Given the description of an element on the screen output the (x, y) to click on. 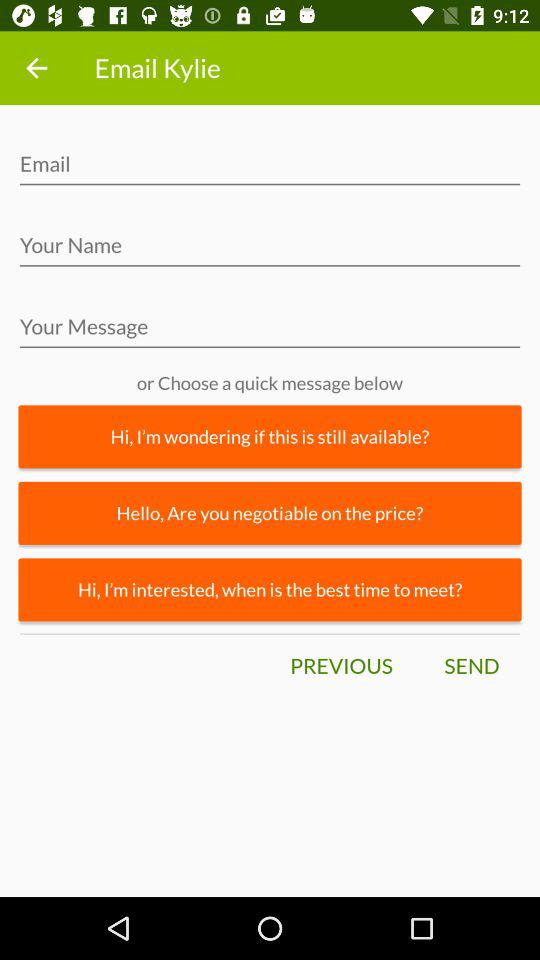
turn on the item at the bottom right corner (471, 666)
